Given the description of an element on the screen output the (x, y) to click on. 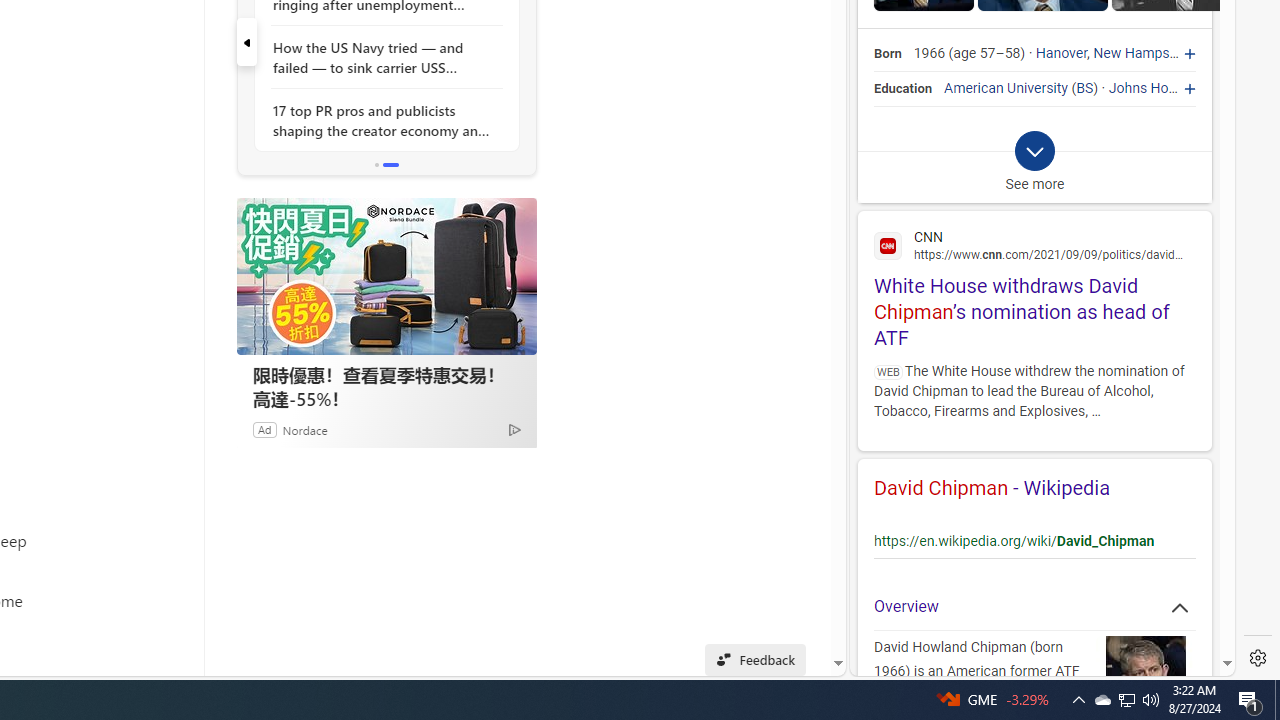
Ad Choice (514, 429)
Class: b_exp_chevron_svg b_expmob_chev (1034, 151)
Hanover (1061, 53)
Actions for this site (1163, 525)
Johns Hopkins University (1187, 88)
previous (246, 42)
Born (888, 53)
